Given the description of an element on the screen output the (x, y) to click on. 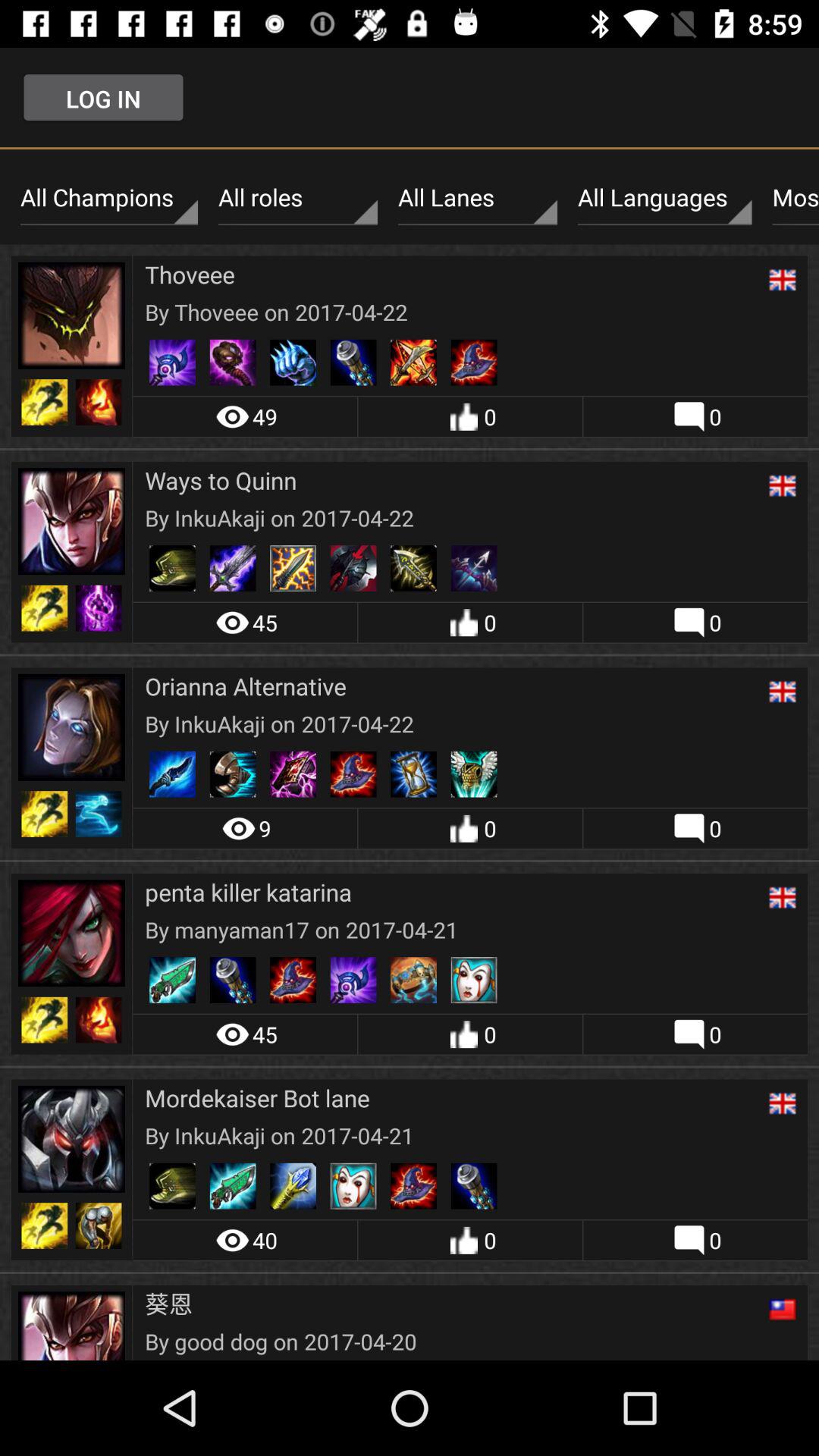
launch icon next to the all lanes (297, 198)
